Given the description of an element on the screen output the (x, y) to click on. 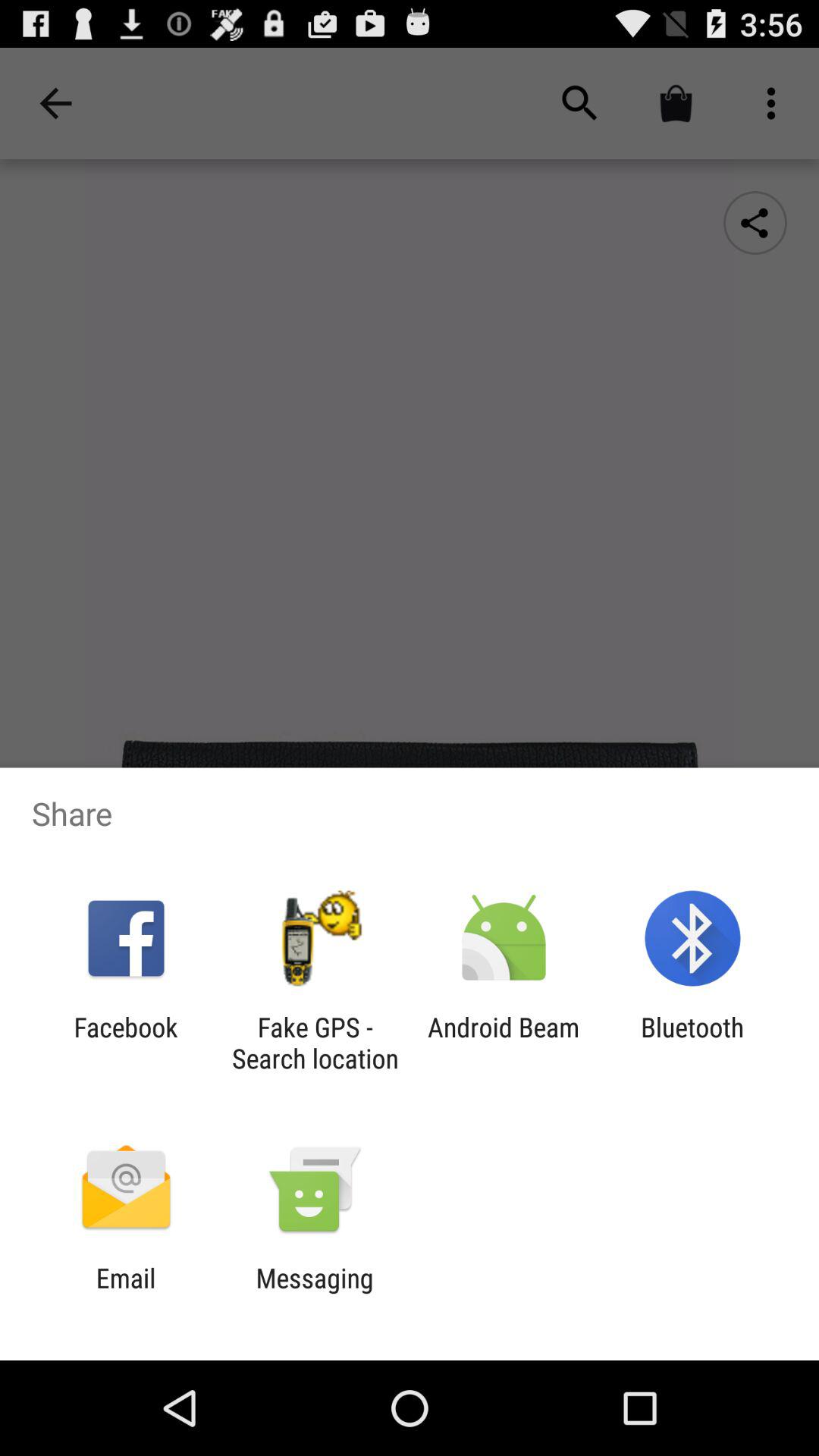
launch icon to the right of the android beam (691, 1042)
